Given the description of an element on the screen output the (x, y) to click on. 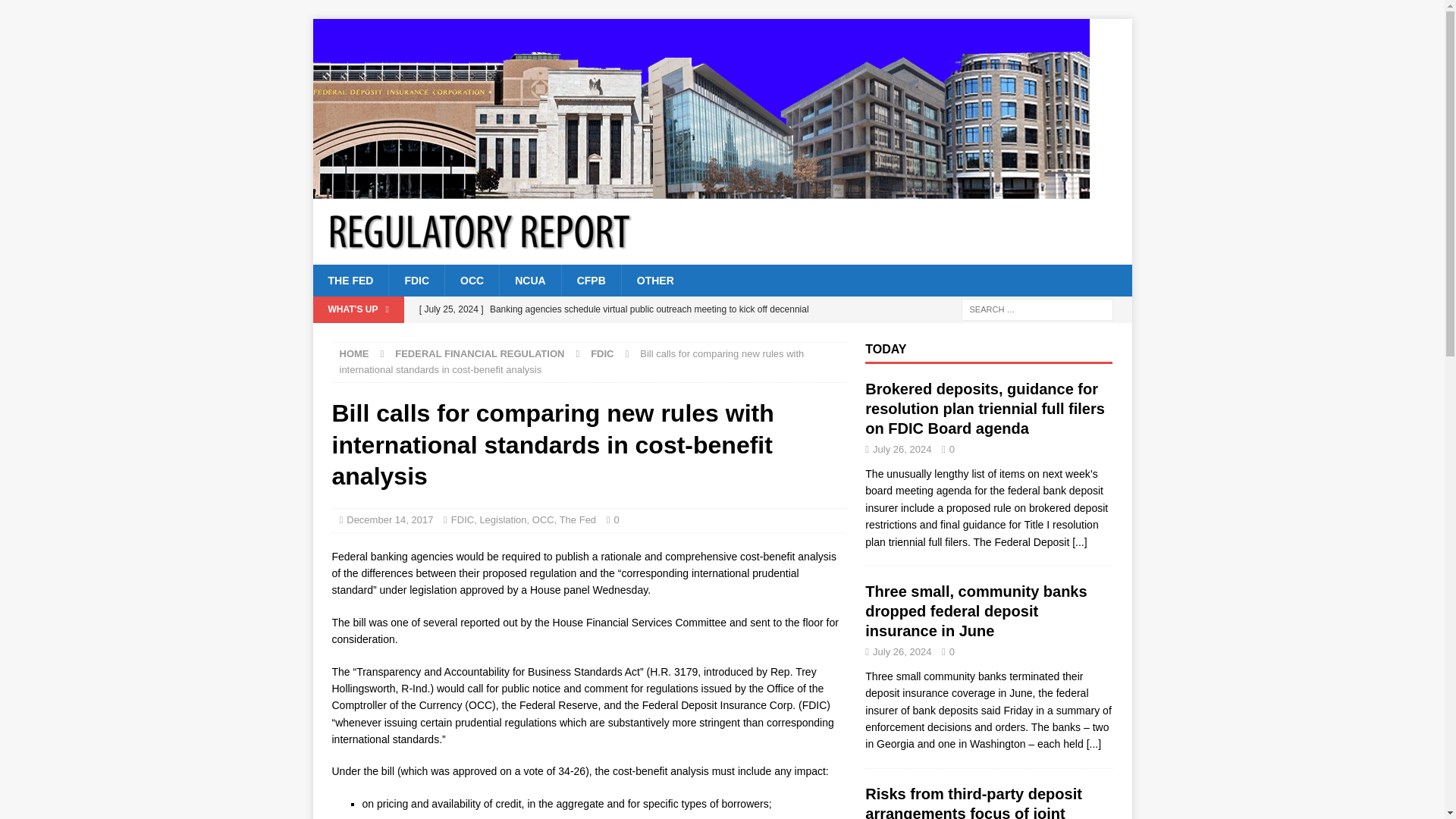
OCC (543, 519)
Legislation (502, 519)
OCC (471, 280)
Regulatory Report (701, 190)
FDIC (462, 519)
December 14, 2017 (389, 519)
OTHER (654, 280)
HOME (354, 353)
The Fed (577, 519)
NCUA (529, 280)
CFPB (590, 280)
Search (56, 11)
FDIC (601, 353)
